Given the description of an element on the screen output the (x, y) to click on. 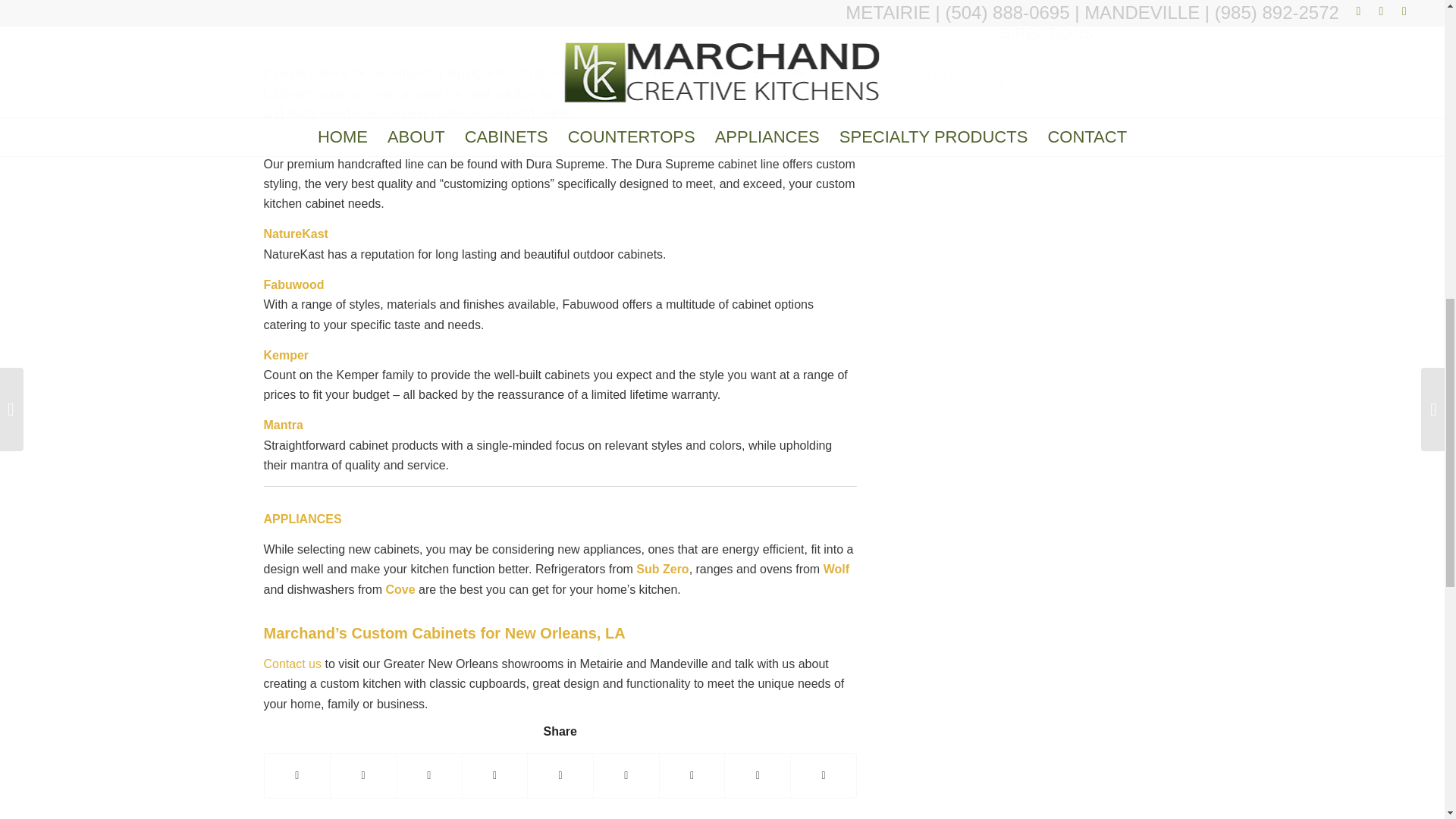
Cove (399, 589)
Mantra (282, 424)
NatureKast (296, 233)
Sub Zero (662, 568)
Executive Cabinetry (321, 52)
Contact us (292, 663)
Dura Supreme (304, 143)
Kemper (285, 354)
METAIRIE SHOWROOM DIRECTIONS (1046, 22)
Wolf (836, 568)
